Given the description of an element on the screen output the (x, y) to click on. 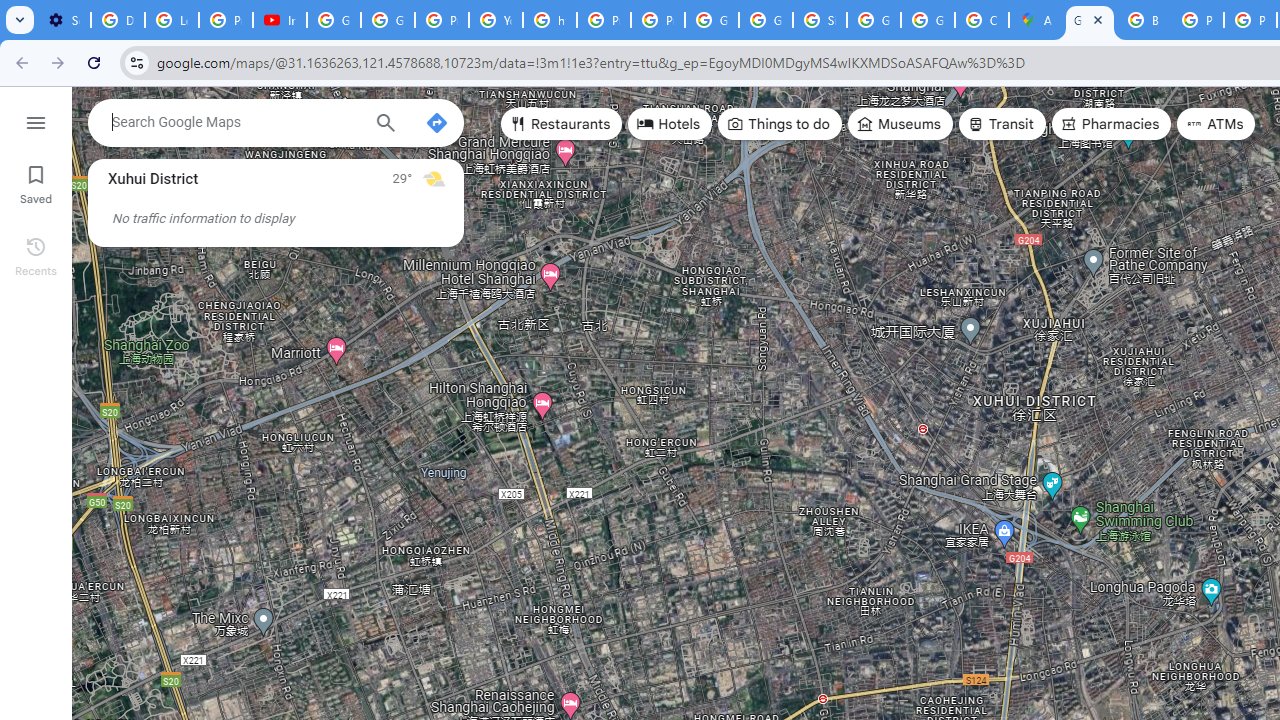
Pharmacies (1111, 124)
Hotels (670, 124)
Menu (35, 120)
Sign in - Google Accounts (819, 20)
YouTube (495, 20)
Things to do (780, 124)
Google Account Help (333, 20)
Privacy Help Center - Policies Help (1197, 20)
Google Maps (1089, 20)
Partly cloudy (433, 178)
